Given the description of an element on the screen output the (x, y) to click on. 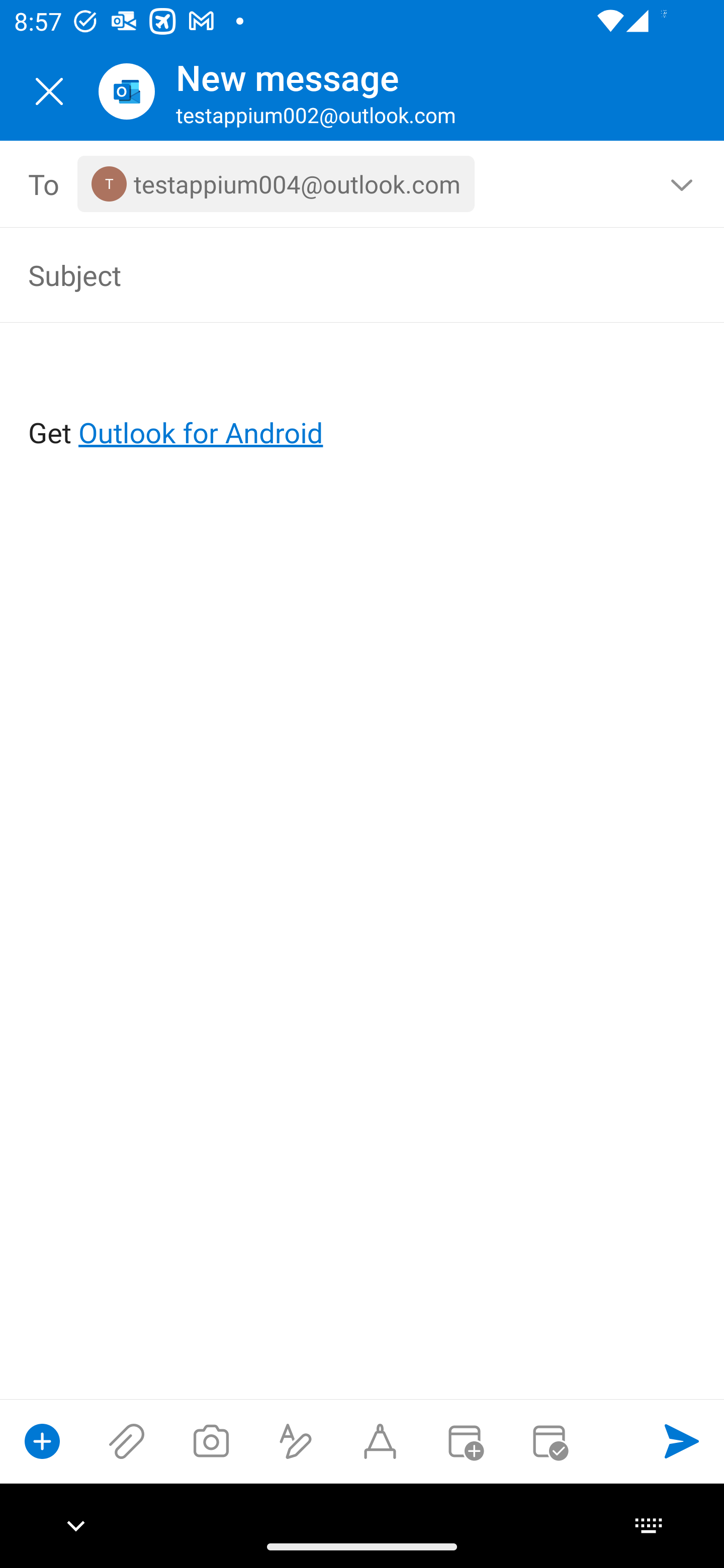
Close (49, 91)
To, 1 recipient <testappium004@outlook.com> (362, 184)
Subject (333, 274)


Get Outlook for Android (363, 400)
Show compose options (42, 1440)
Attach files (126, 1440)
Take a photo (210, 1440)
Show formatting options (295, 1440)
Start Ink compose (380, 1440)
Convert to event (464, 1440)
Send availability (548, 1440)
Send (681, 1440)
